Given the description of an element on the screen output the (x, y) to click on. 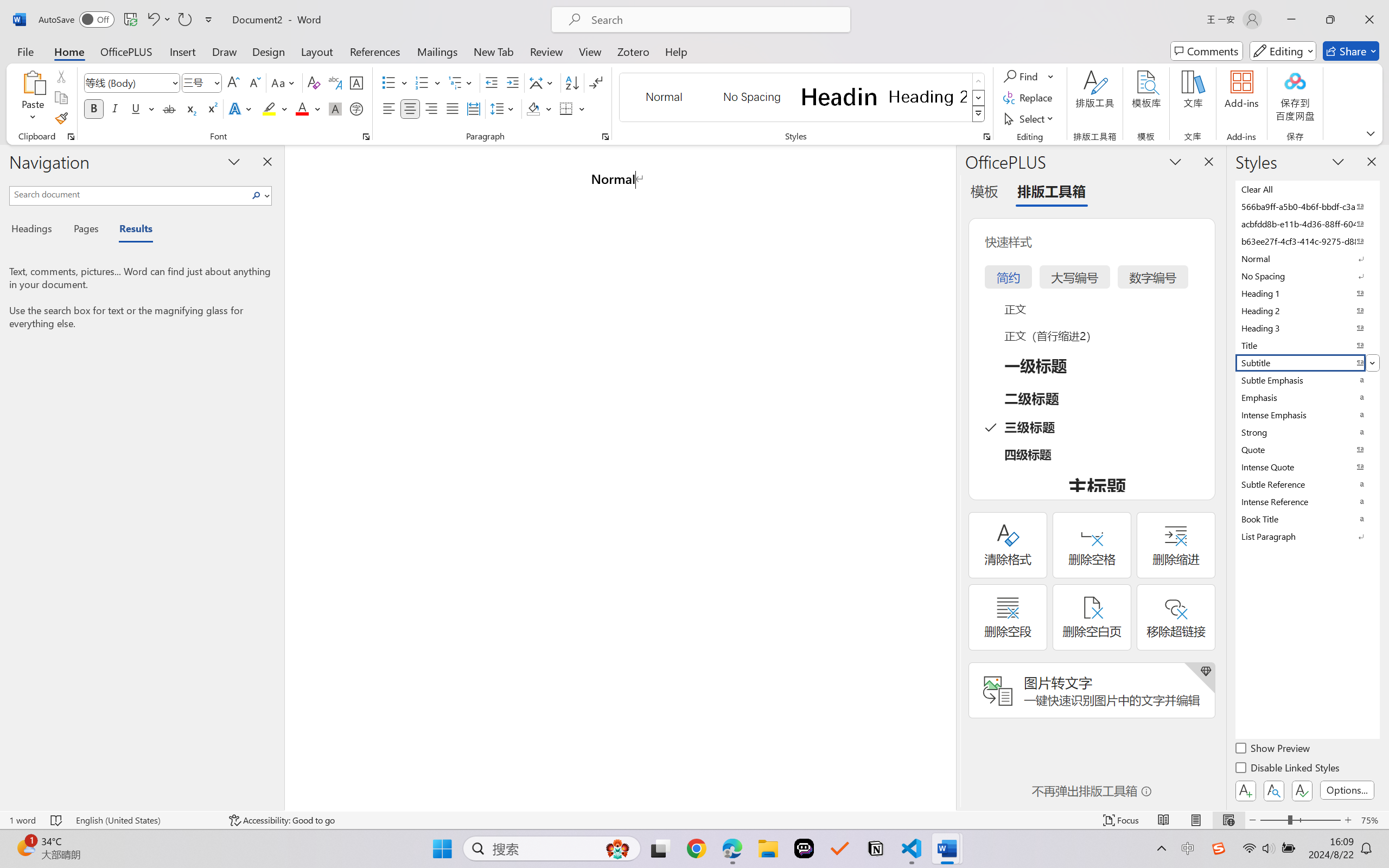
b63ee27f-4cf3-414c-9275-d88e3f90795e (1306, 240)
Text Highlight Color Yellow (269, 108)
Font Size (201, 82)
AutoSave (76, 19)
Task Pane Options (1175, 161)
Emphasis (1306, 397)
Shading RGB(0, 0, 0) (533, 108)
Clear All (1306, 188)
Multilevel List (461, 82)
Headings (35, 229)
Undo Style (152, 19)
Show/Hide Editing Marks (595, 82)
Strikethrough (169, 108)
